Given the description of an element on the screen output the (x, y) to click on. 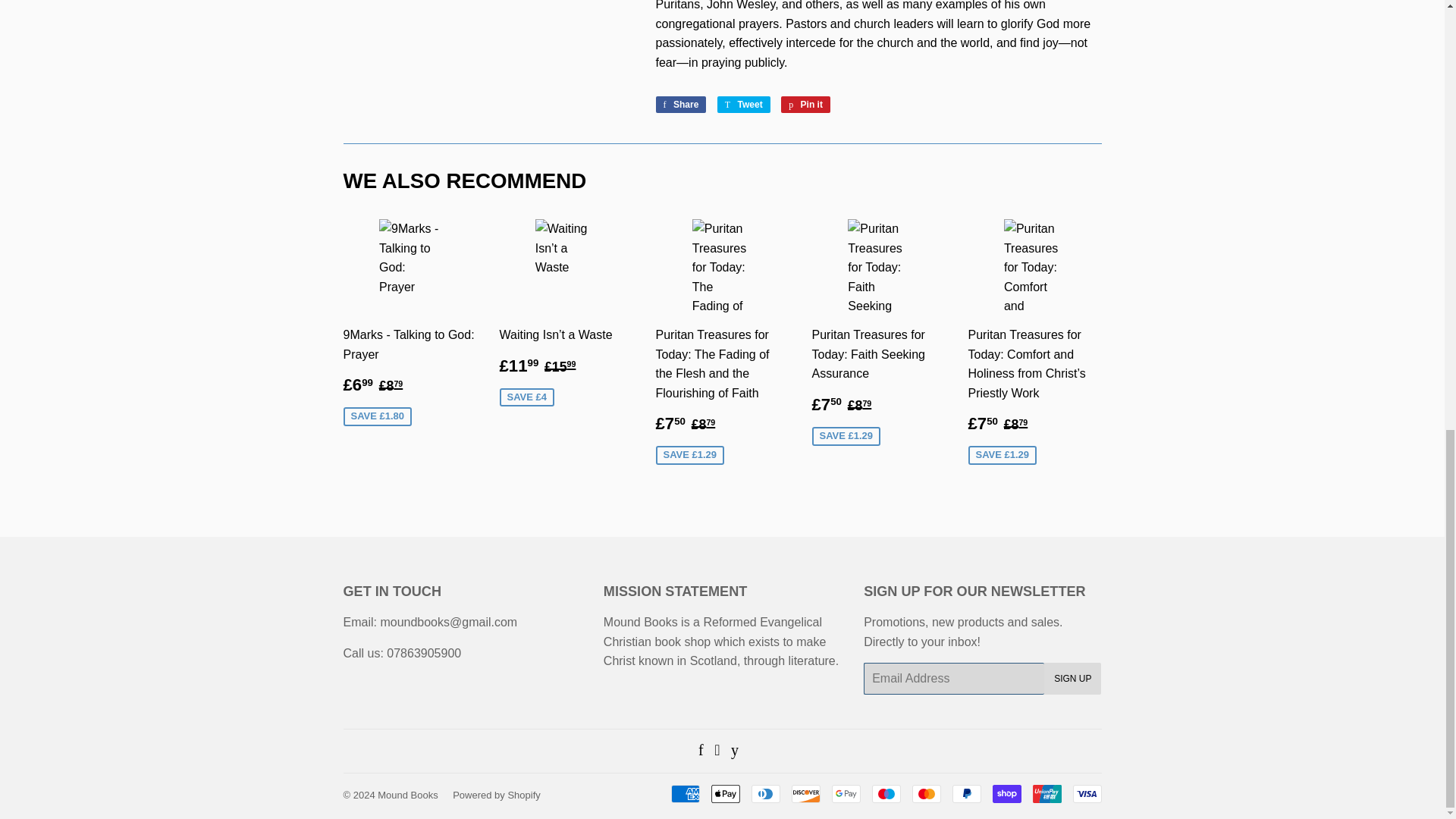
Shop Pay (1005, 793)
Mound Books on Facebook (700, 750)
PayPal (966, 793)
Pin on Pinterest (804, 104)
Union Pay (1046, 793)
Google Pay (845, 793)
Apple Pay (725, 793)
Mound Books on Instagram (716, 750)
Mound Books on YouTube (734, 750)
Share on Facebook (680, 104)
Diners Club (764, 793)
Mastercard (925, 793)
Discover (806, 793)
Maestro (886, 793)
Tweet on Twitter (743, 104)
